Given the description of an element on the screen output the (x, y) to click on. 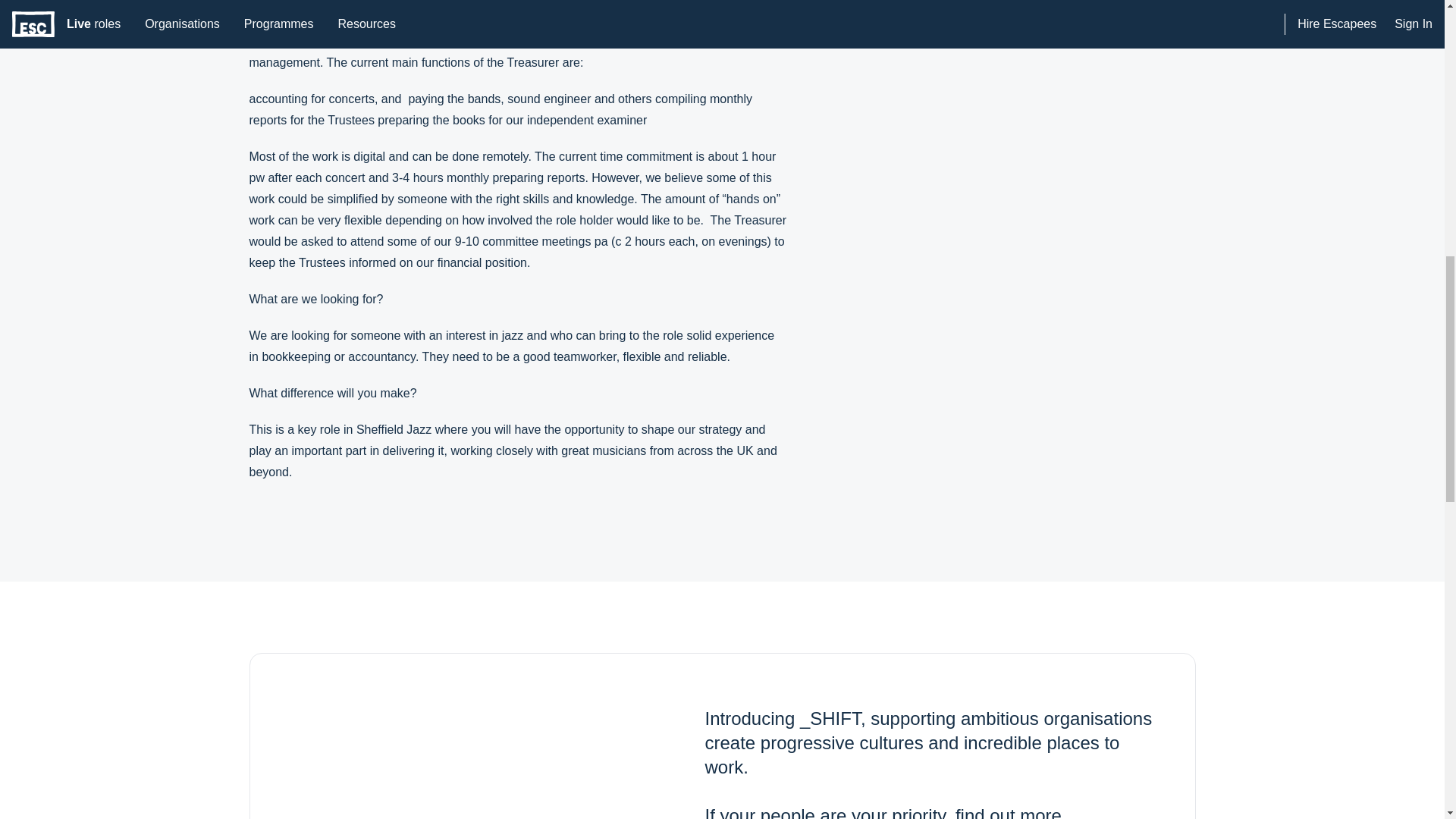
find out more (1008, 812)
